Given the description of an element on the screen output the (x, y) to click on. 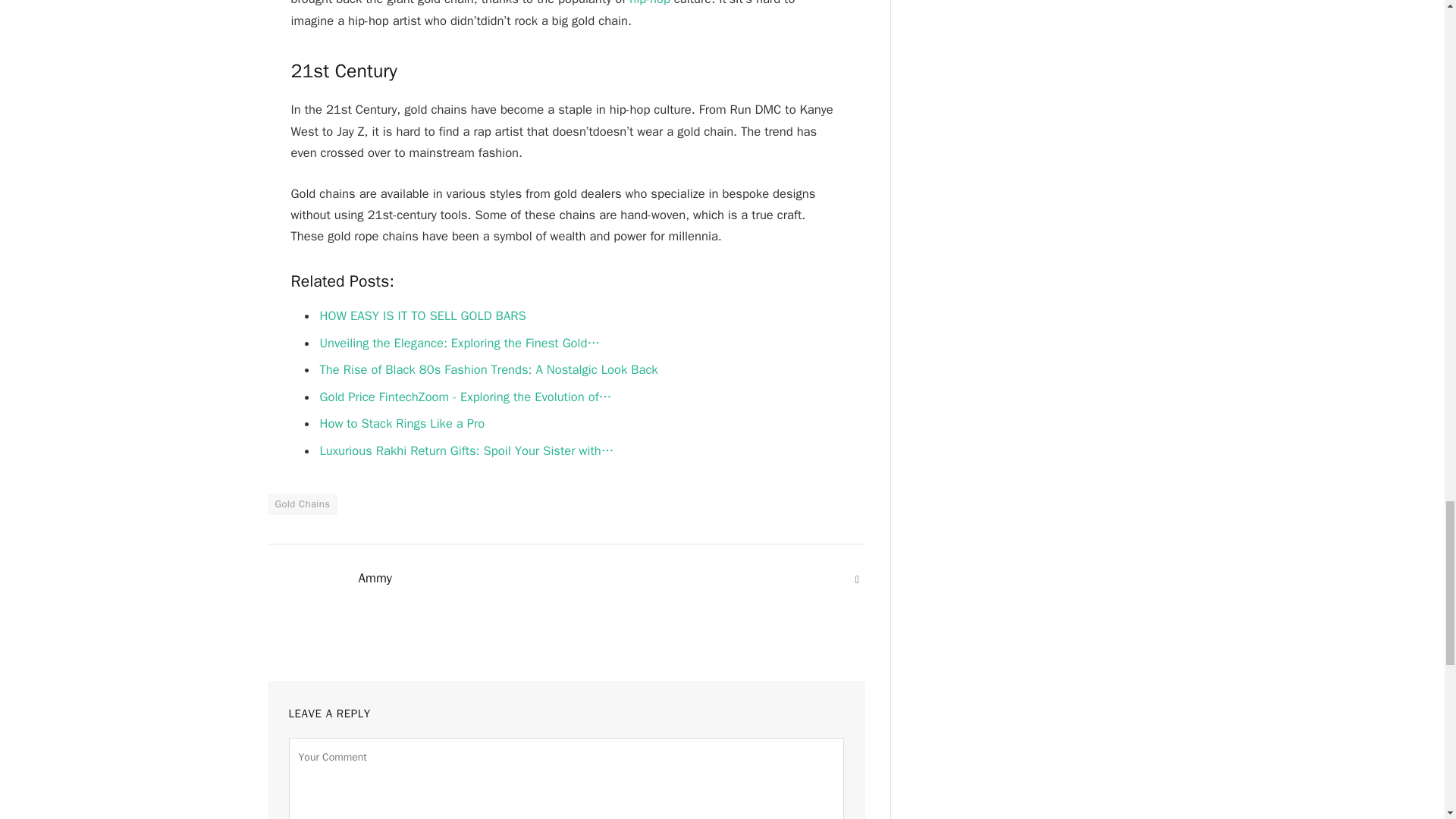
Posts by Ammy (374, 578)
Website (856, 580)
